Given the description of an element on the screen output the (x, y) to click on. 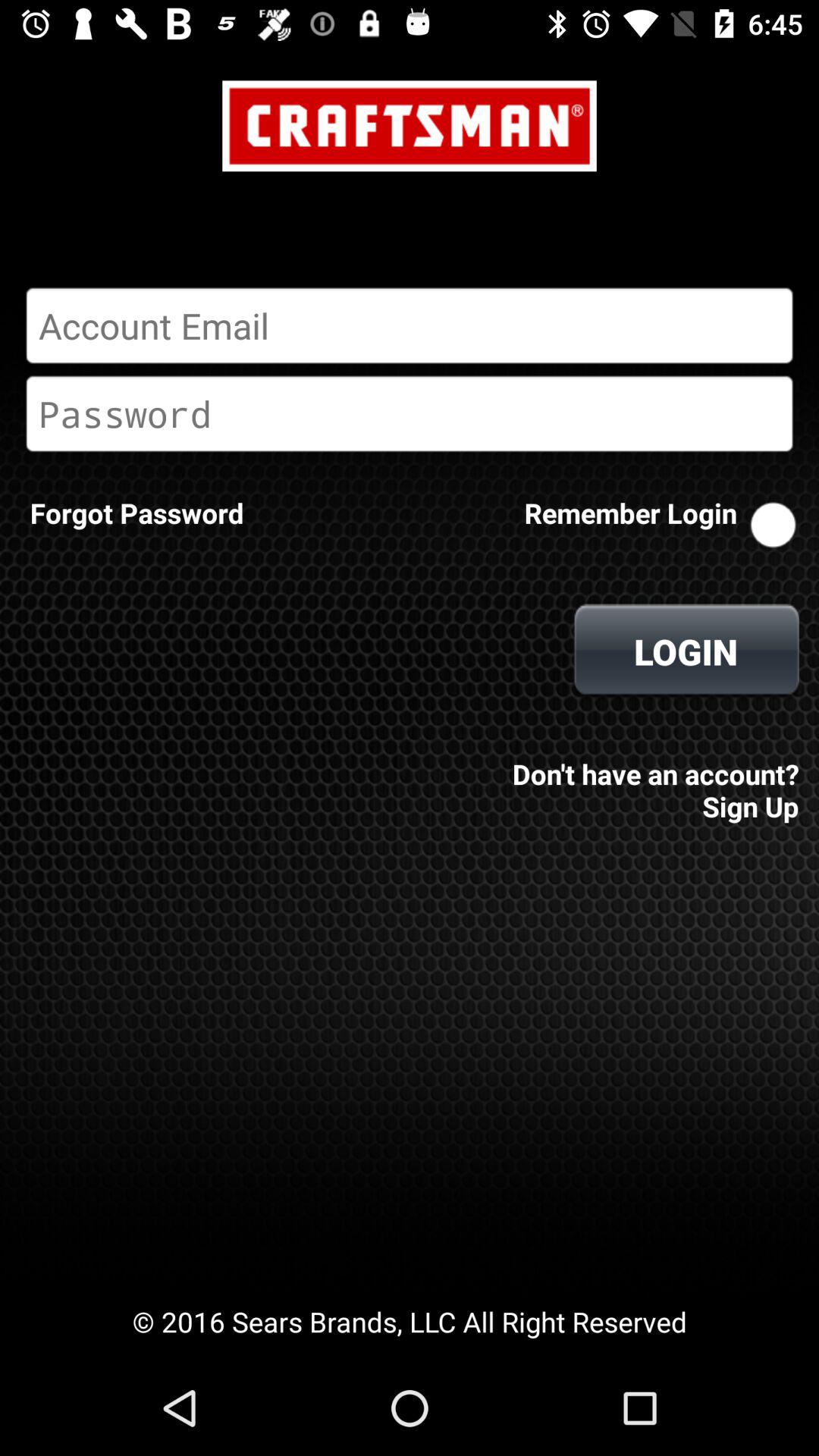
launch forgot password on the left (136, 512)
